Given the description of an element on the screen output the (x, y) to click on. 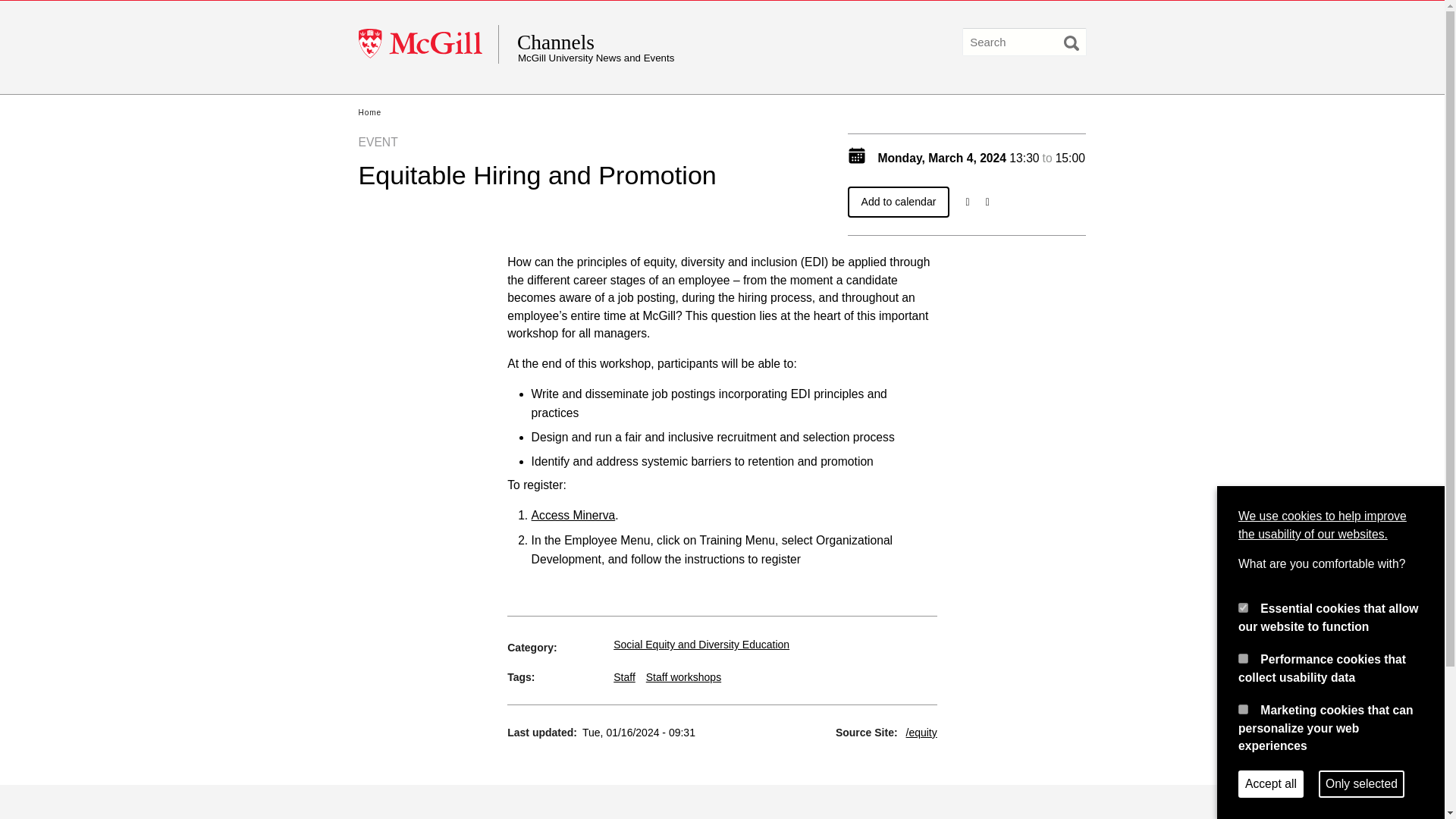
Search (1070, 42)
Access Minerva (573, 514)
Social Equity and Diversity Education (700, 644)
marketing (1243, 709)
Add to calendar (898, 201)
return to McGill University (427, 44)
Channels (664, 42)
Home (369, 112)
Staff workshops (683, 676)
Staff (623, 676)
